Given the description of an element on the screen output the (x, y) to click on. 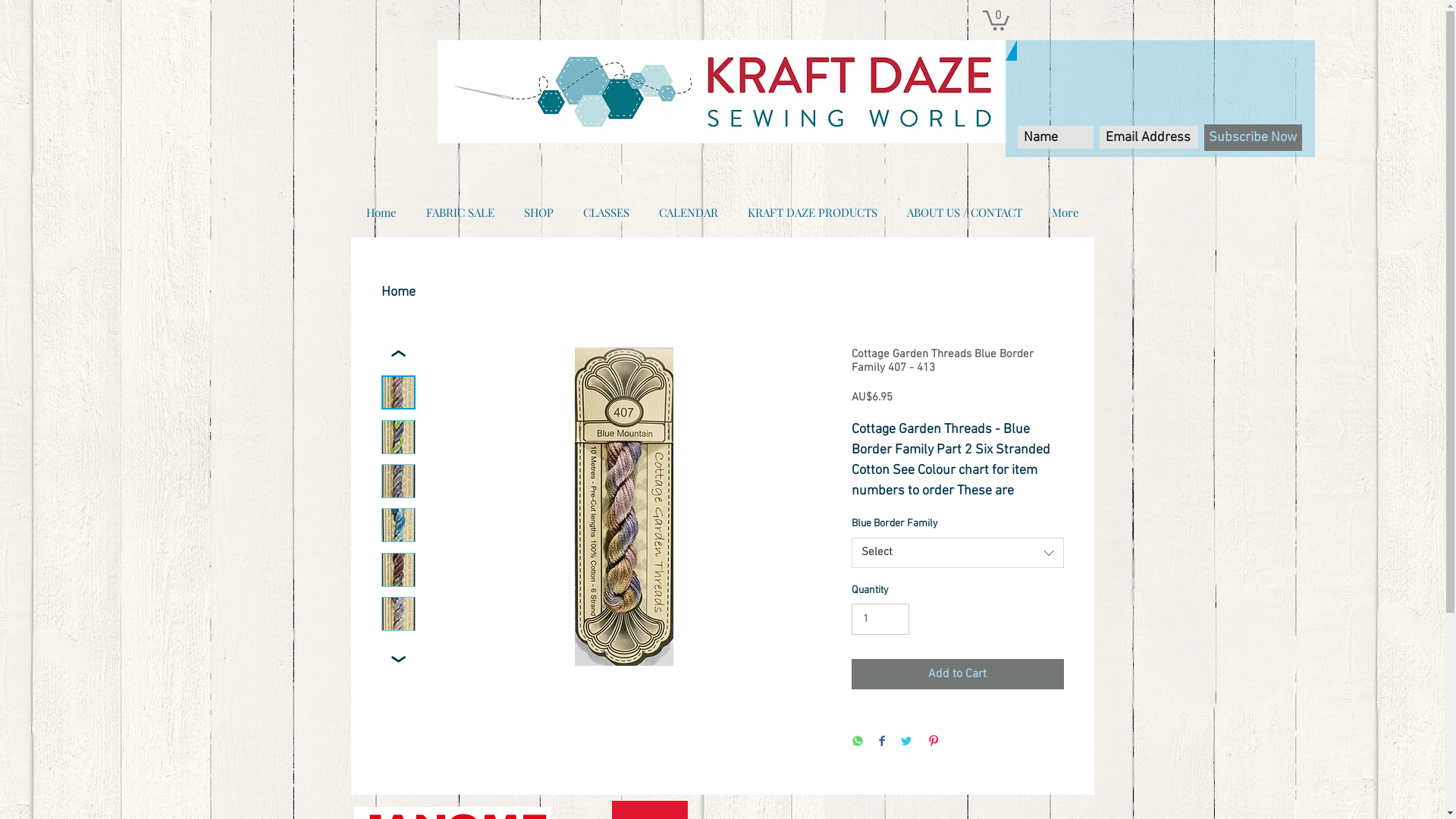
0 Element type: text (995, 19)
Select Element type: text (956, 552)
Home Element type: text (397, 292)
FABRIC SALE Element type: text (459, 211)
Home Element type: text (380, 211)
Add to Cart Element type: text (956, 673)
ABOUT US / CONTACT Element type: text (963, 211)
KRAFT DAZE PRODUCTS Element type: text (811, 211)
CLASSES Element type: text (606, 211)
Subscribe Now Element type: text (1253, 137)
